Given the description of an element on the screen output the (x, y) to click on. 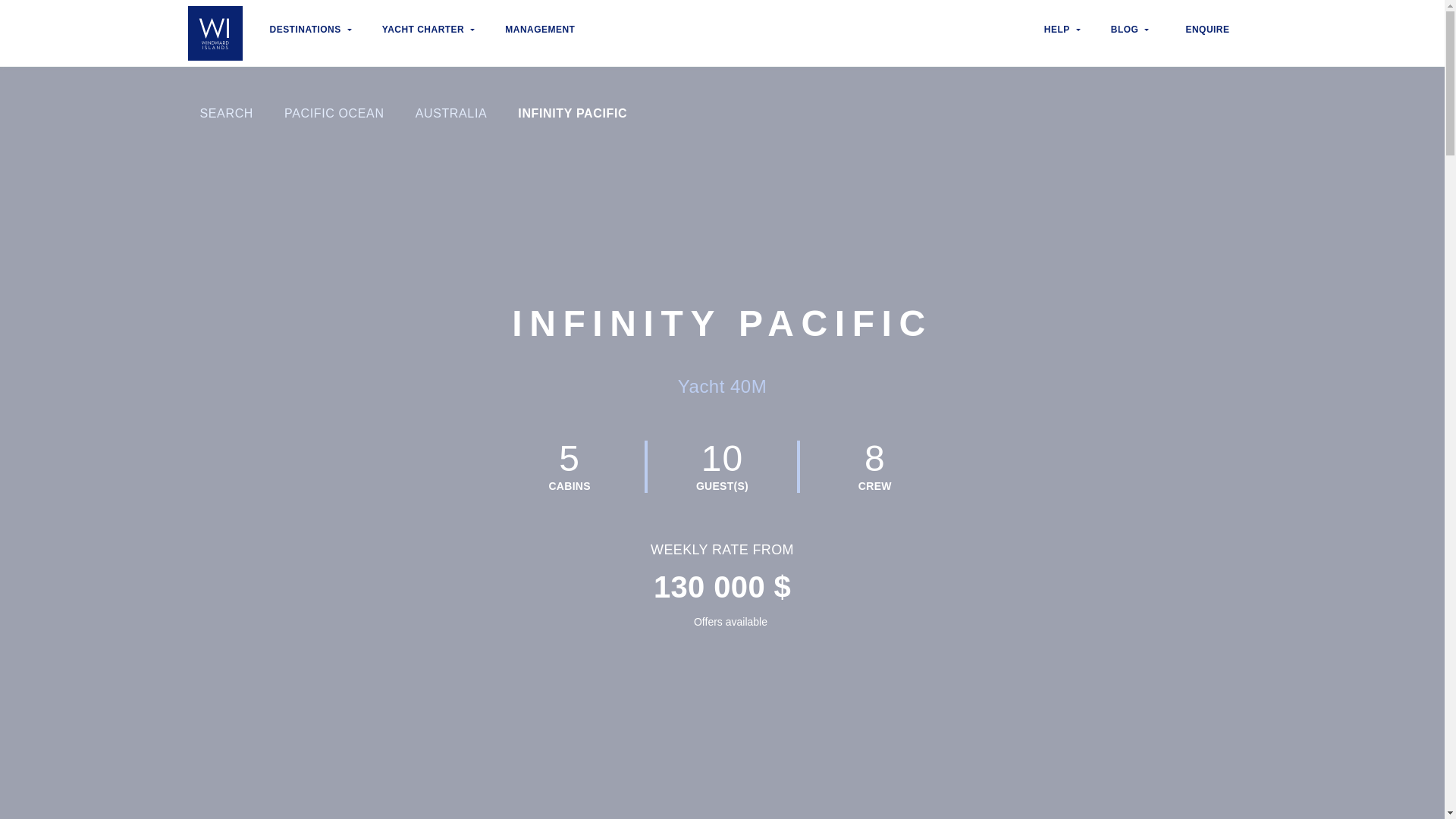
DESTINATIONS (310, 33)
